Given the description of an element on the screen output the (x, y) to click on. 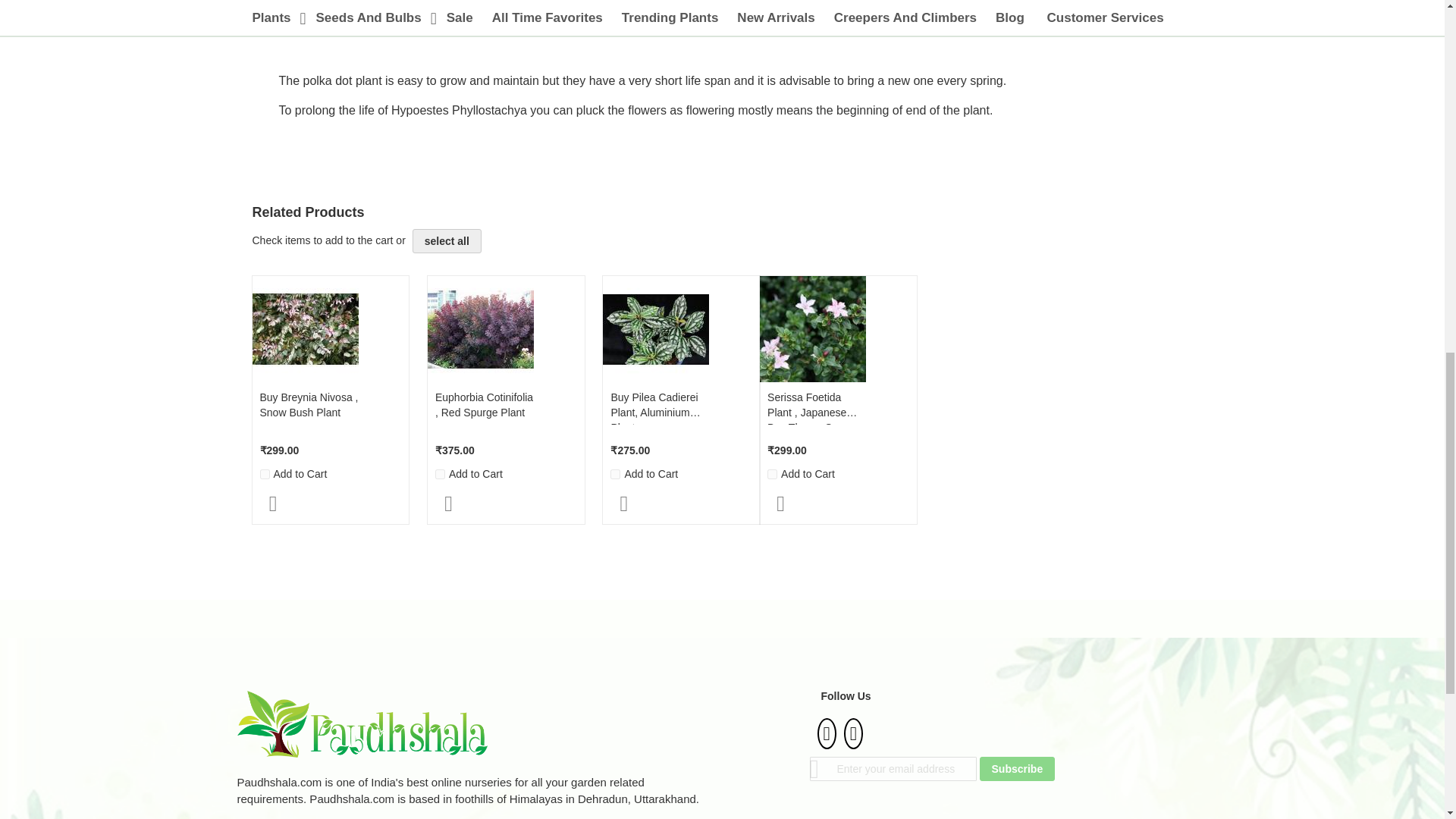
1025 (264, 474)
1100 (615, 474)
1050 (440, 474)
1120 (772, 474)
